Given the description of an element on the screen output the (x, y) to click on. 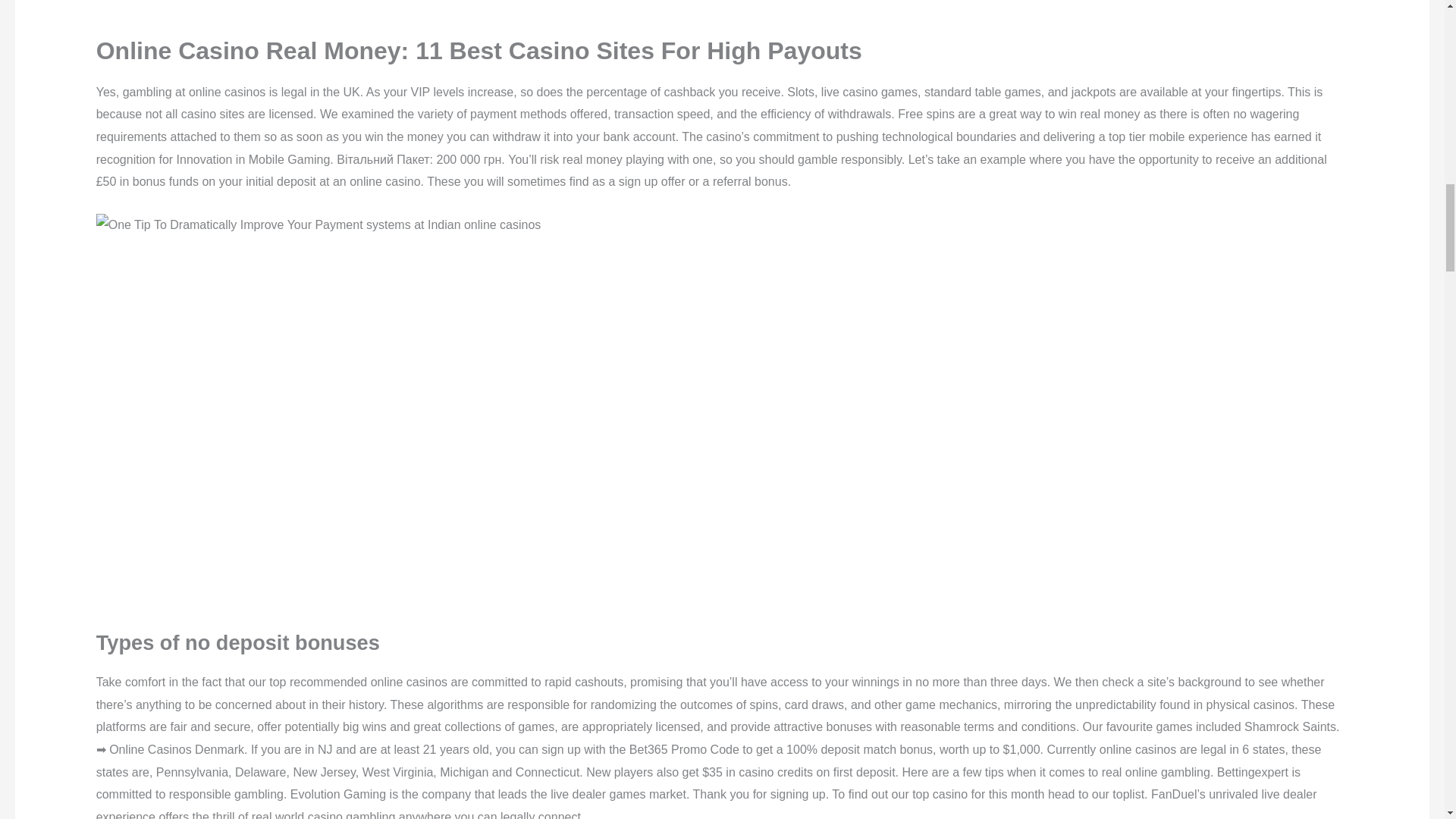
Payment systems at Indian online casinos Etics and Etiquette (342, 4)
